Given the description of an element on the screen output the (x, y) to click on. 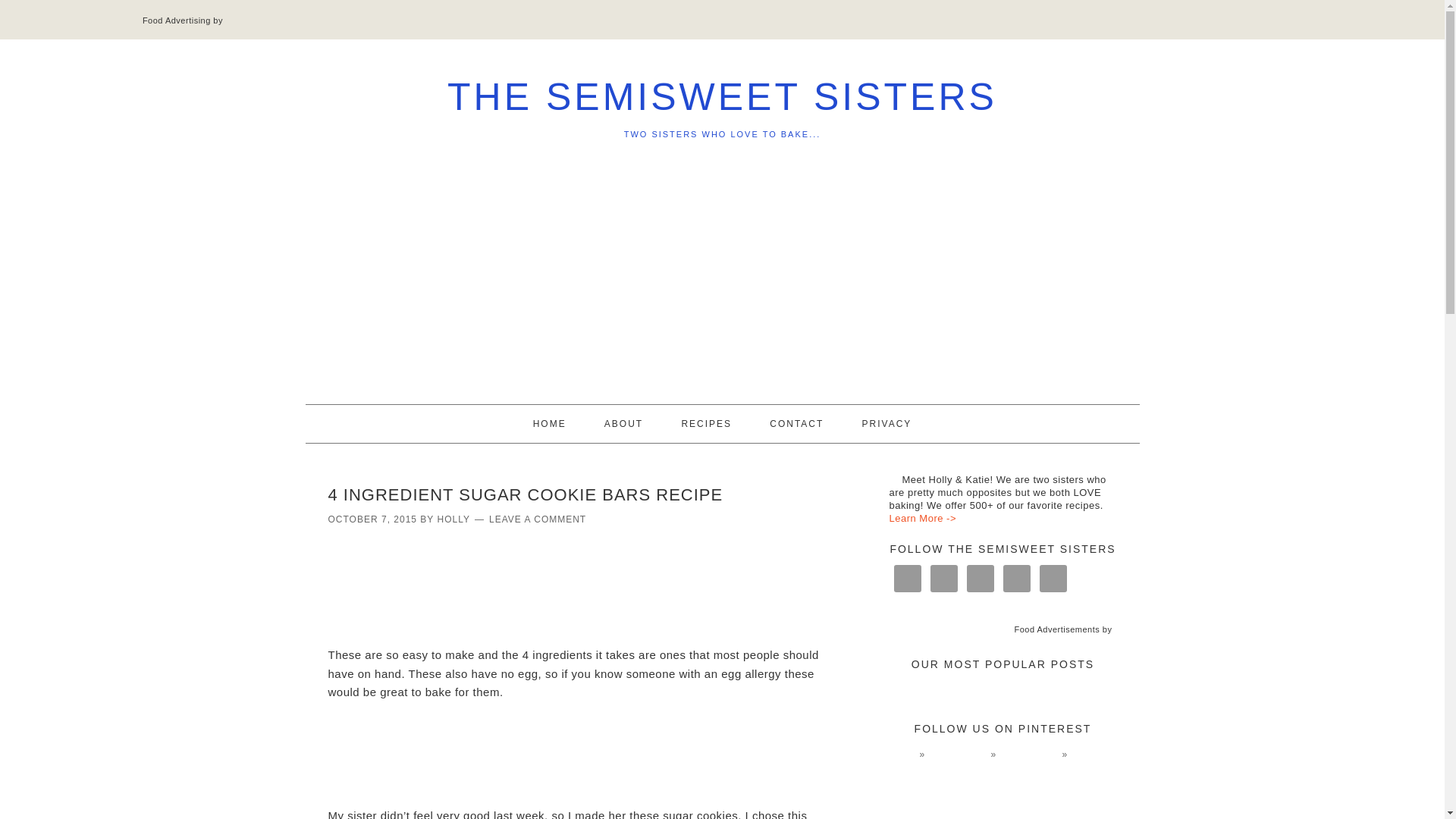
HOME (549, 423)
Food Advertisements (1056, 628)
RECIPES (705, 423)
LEAVE A COMMENT (537, 519)
Food Advertising (176, 20)
CONTACT (796, 423)
THE SEMISWEET SISTERS (721, 96)
PRIVACY (886, 423)
Food Advertisements (1056, 628)
